Given the description of an element on the screen output the (x, y) to click on. 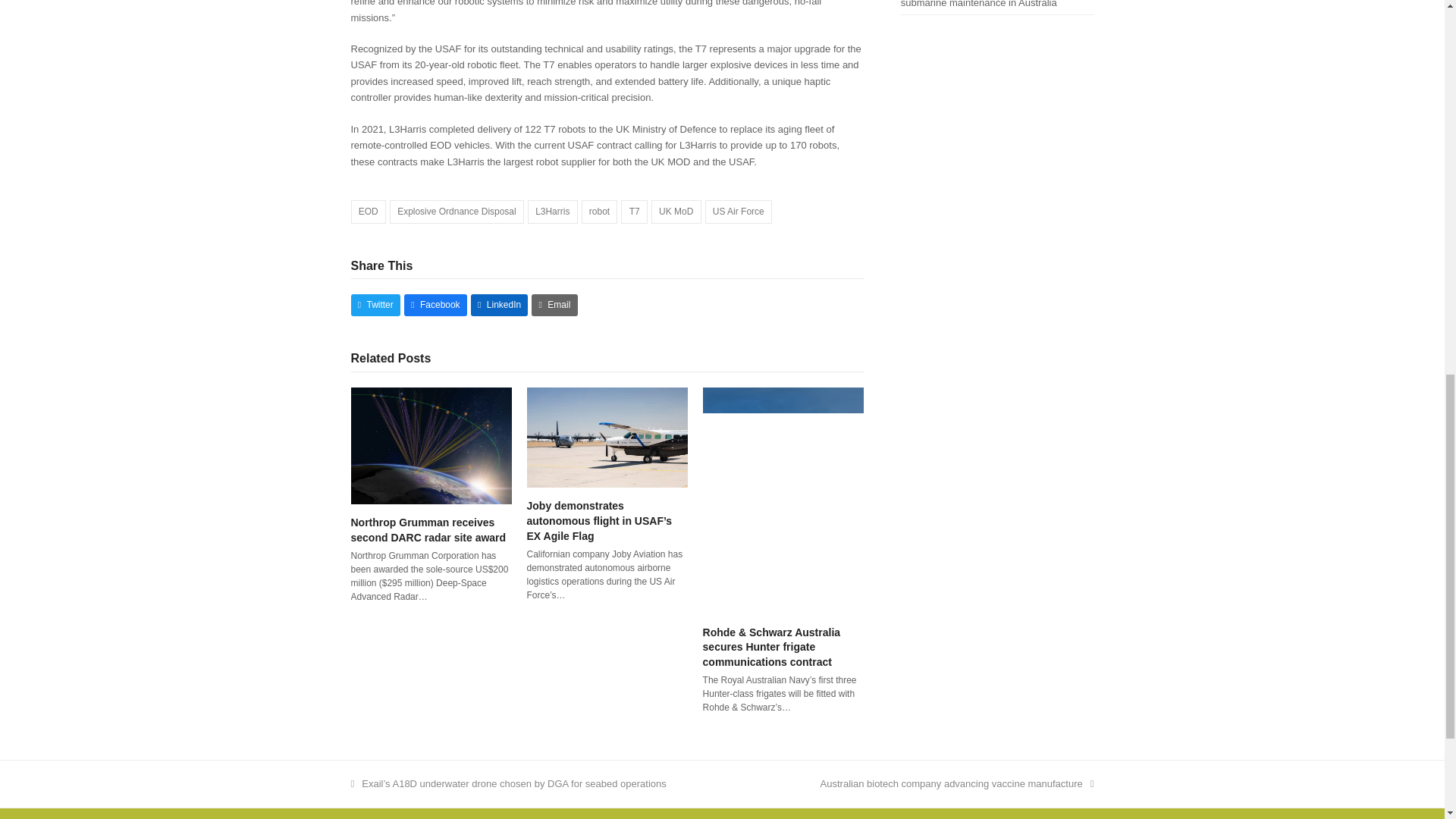
L3Harris (552, 211)
Explosive Ordnance Disposal (457, 211)
Northrop Grumman receives second DARC radar site award (430, 444)
EOD (367, 211)
US Air Force (737, 211)
T7 (633, 211)
robot (598, 211)
Twitter (375, 305)
UK MoD (675, 211)
Facebook (435, 305)
